Given the description of an element on the screen output the (x, y) to click on. 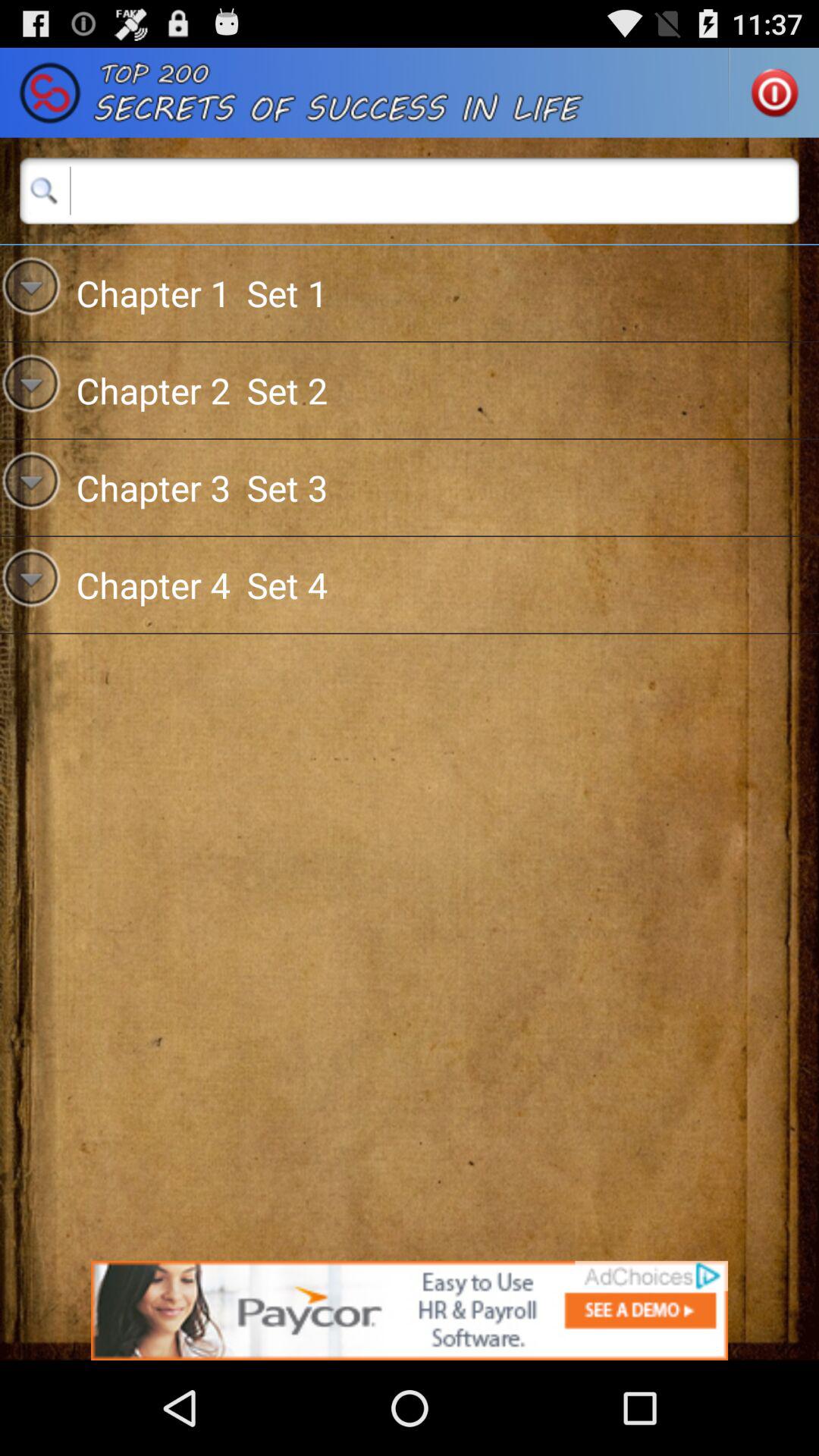
search the required topic (409, 190)
